Given the description of an element on the screen output the (x, y) to click on. 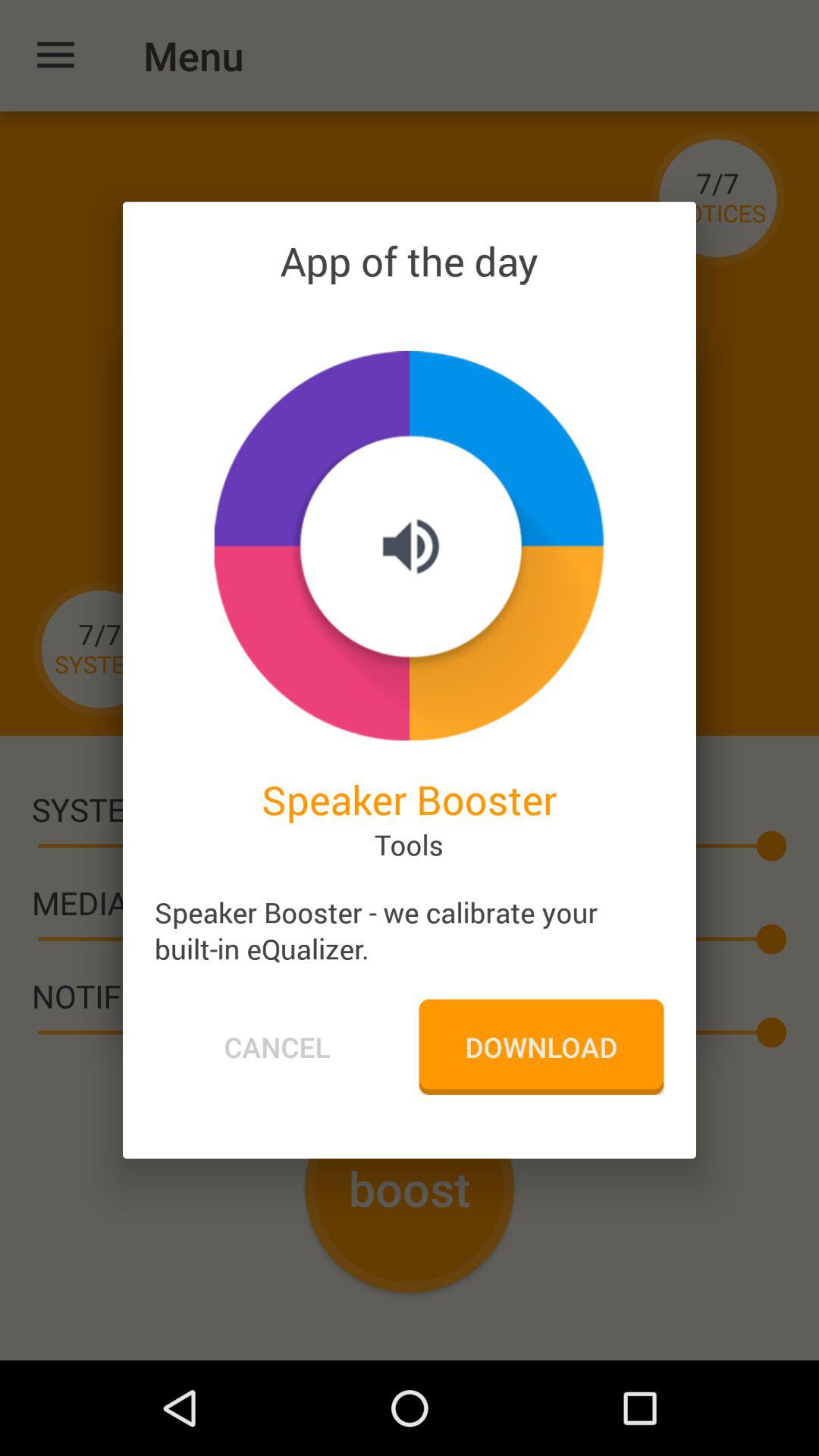
scroll until download (541, 1046)
